Given the description of an element on the screen output the (x, y) to click on. 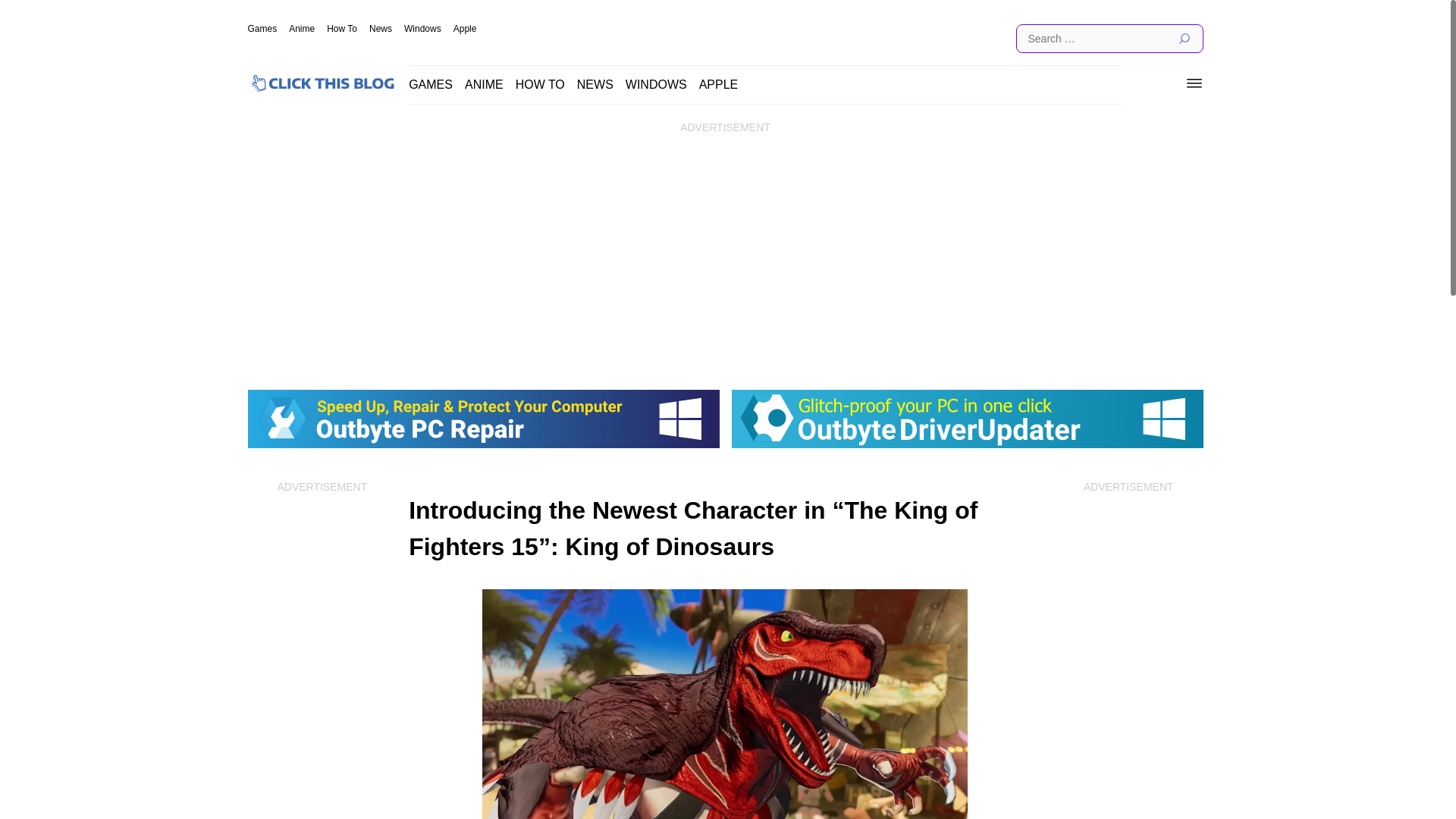
ANIME (483, 83)
How To (341, 28)
NEWS (594, 83)
WINDOWS (656, 83)
HOW TO (539, 83)
APPLE (718, 83)
News (380, 28)
Apple (464, 28)
Windows (422, 28)
Games (261, 28)
